Given the description of an element on the screen output the (x, y) to click on. 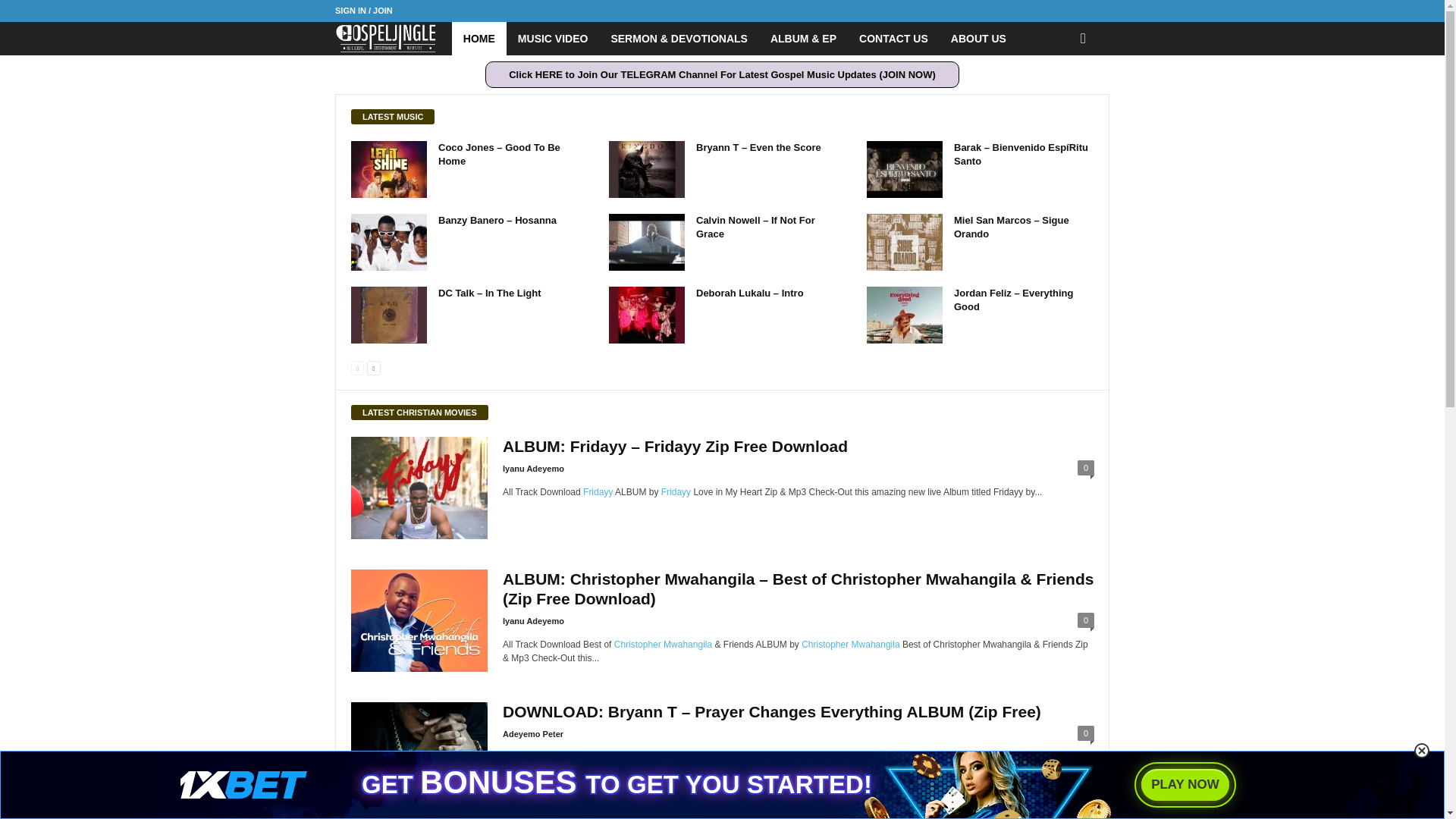
HOME (478, 38)
GospelJingle (392, 39)
ABOUT US (978, 38)
CONTACT US (893, 38)
LATEST MUSIC (391, 116)
MUSIC VIDEO (552, 38)
